Given the description of an element on the screen output the (x, y) to click on. 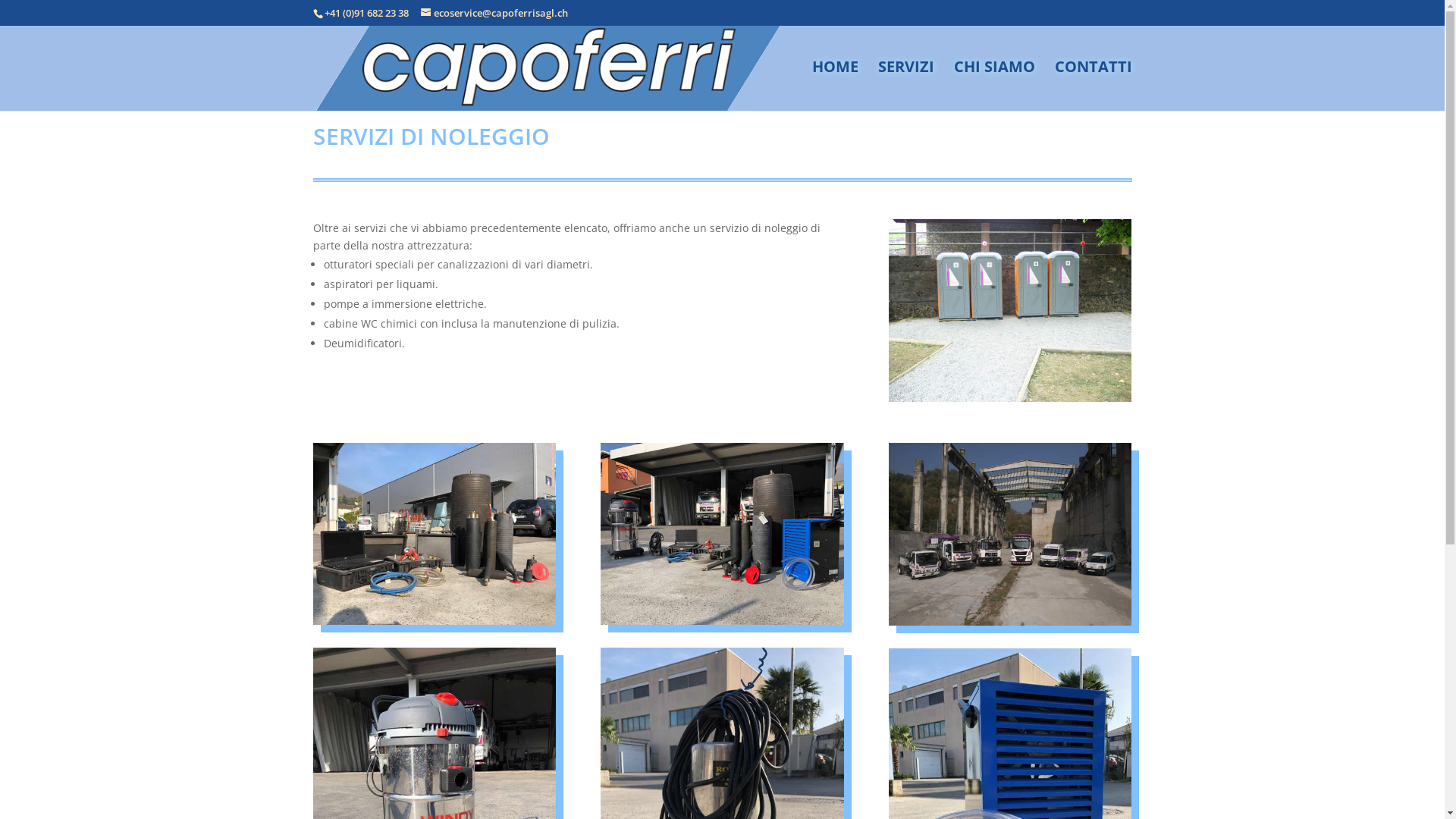
CONTATTI Element type: text (1092, 85)
SERVIZI Element type: text (906, 85)
ecoservice@capoferrisagl.ch Element type: text (493, 12)
HOME Element type: text (834, 85)
CHI SIAMO Element type: text (994, 85)
